Given the description of an element on the screen output the (x, y) to click on. 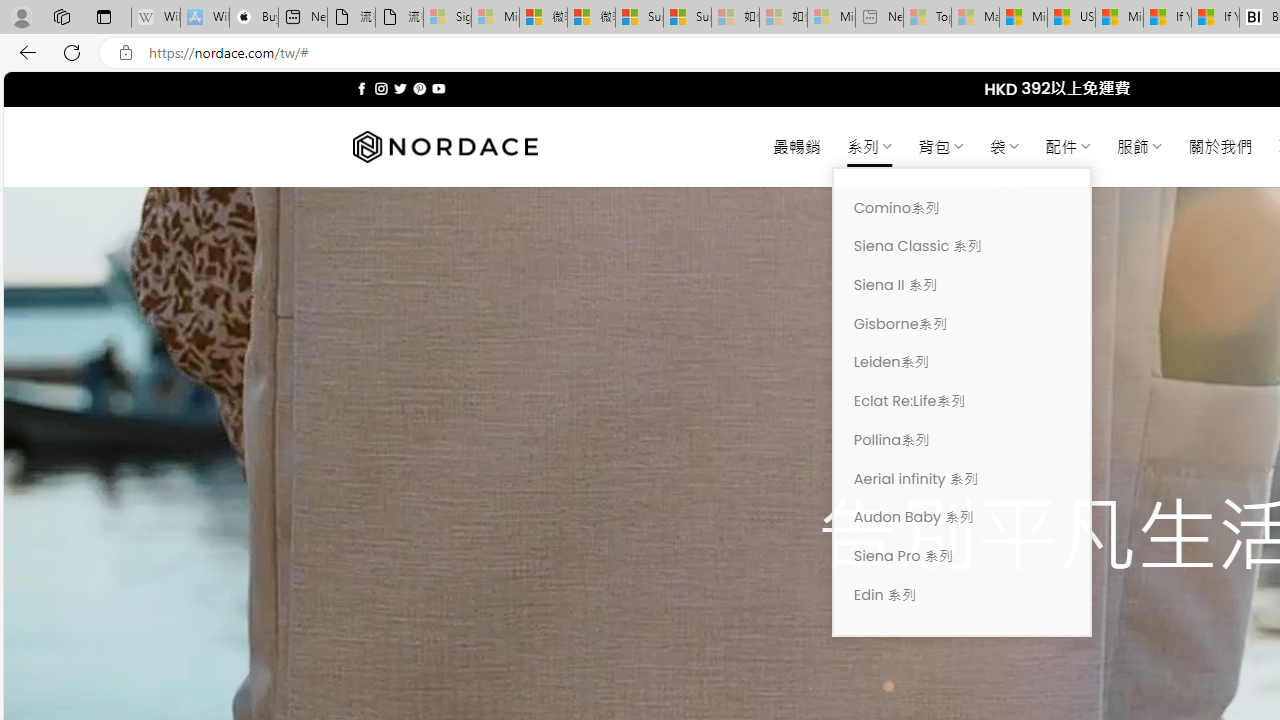
Follow on Facebook (361, 88)
US Heat Deaths Soared To Record High Last Year (1071, 17)
Microsoft account | Account Checkup - Sleeping (831, 17)
